Given the description of an element on the screen output the (x, y) to click on. 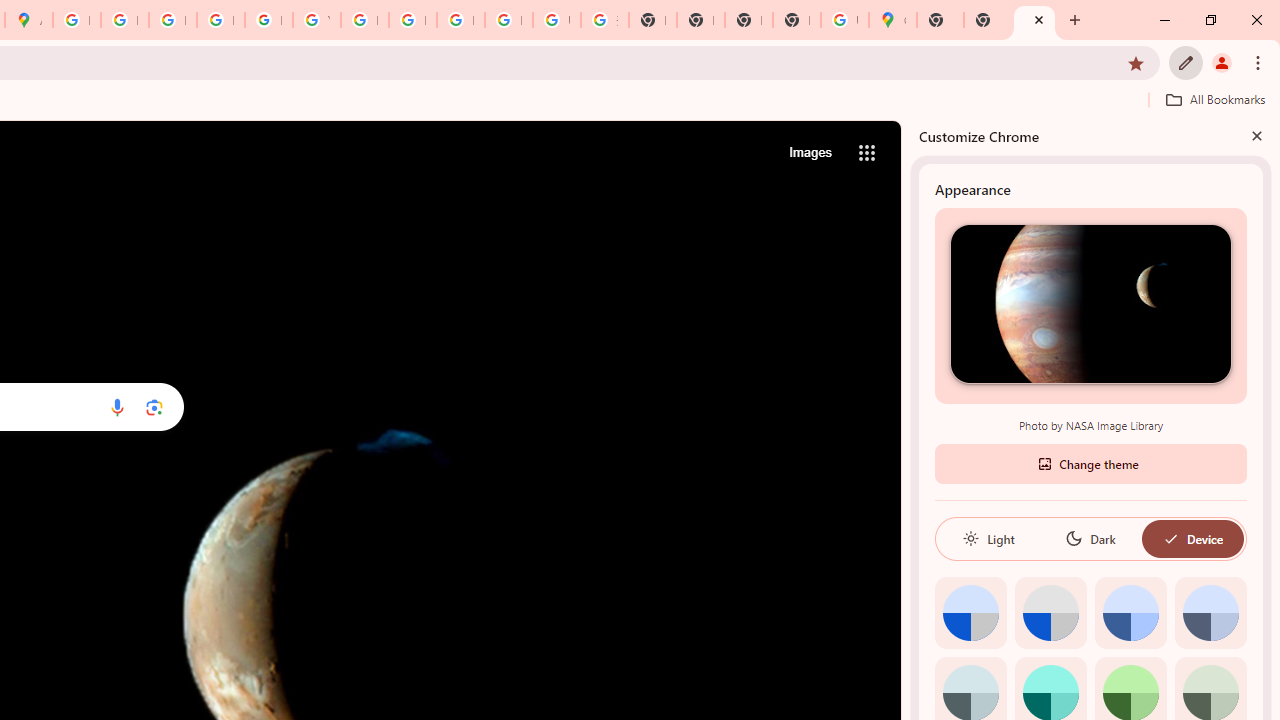
Policy Accountability and Transparency - Transparency Center (76, 20)
New Tab (796, 20)
Blue (1130, 612)
Change theme (1090, 462)
YouTube (316, 20)
New Tab (1034, 20)
New Tab (939, 20)
